Given the description of an element on the screen output the (x, y) to click on. 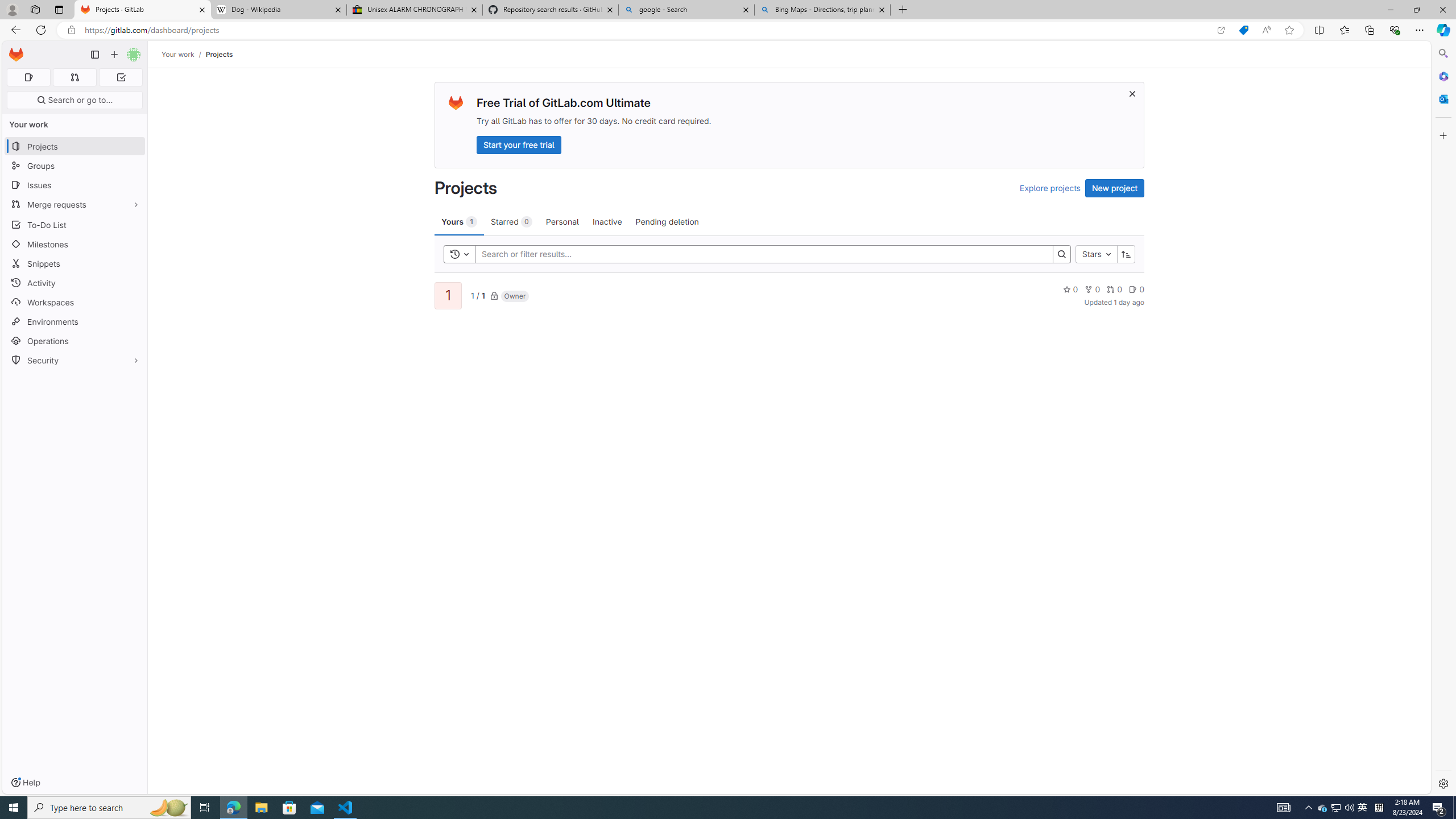
Projects (218, 53)
Toggle history (460, 253)
Operations (74, 340)
Environments (74, 321)
Yours 1 (458, 221)
1 (447, 295)
Pending deletion (667, 221)
Dismiss trial promotion (1131, 93)
Explore projects (1049, 187)
Issues (74, 185)
Class: s14 gl-mr-2 (1132, 289)
